Given the description of an element on the screen output the (x, y) to click on. 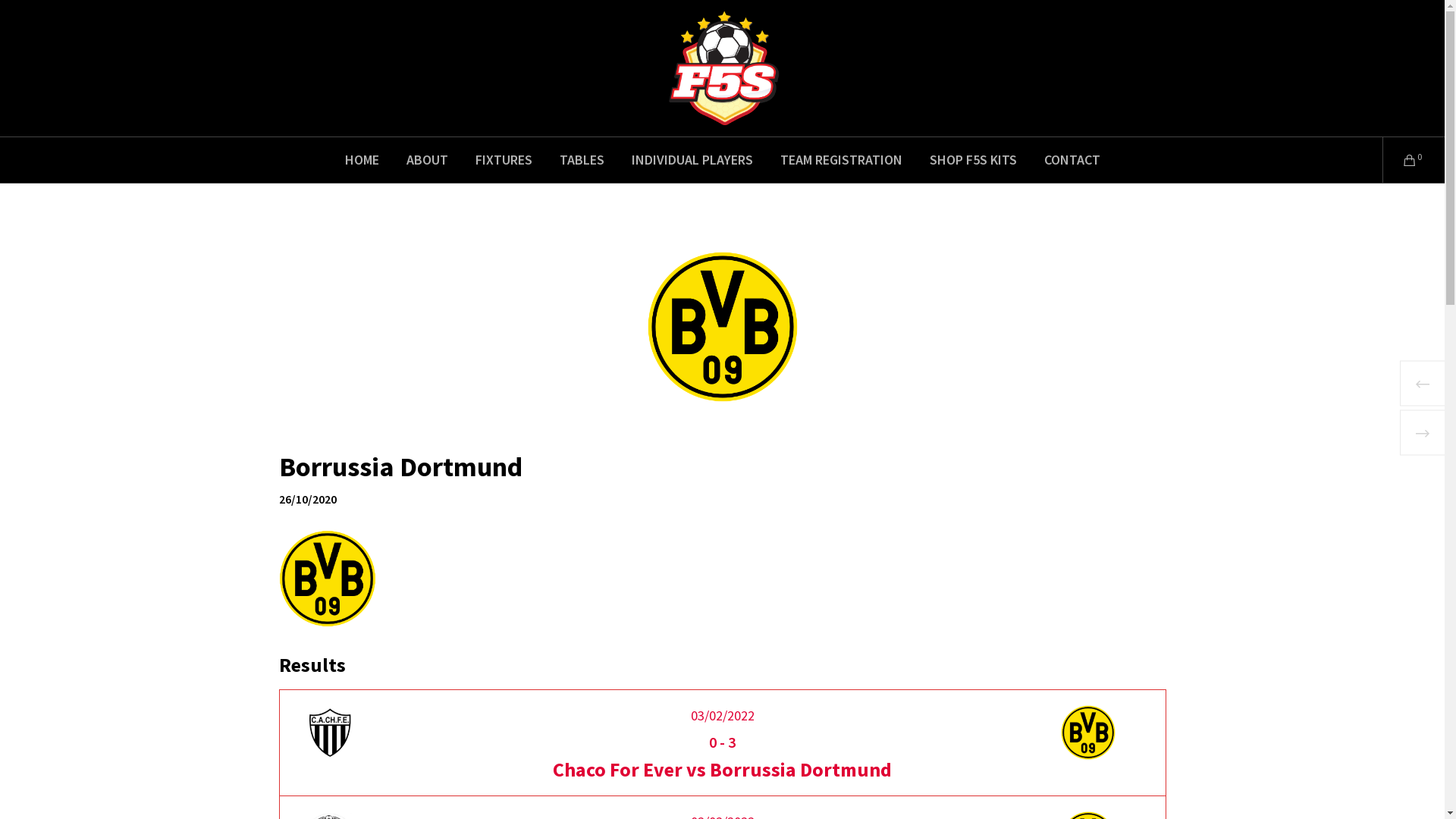
FIXTURES Element type: text (503, 159)
0 - 3 Element type: text (722, 741)
TEAM REGISTRATION Element type: text (840, 159)
Chaco For Ever Element type: hover (342, 732)
ABOUT Element type: text (426, 159)
HOME Element type: text (361, 159)
SHOP F5S KITS Element type: text (973, 159)
03/02/2022 Element type: text (721, 715)
Borrussia Dortmund Element type: hover (1101, 732)
Chaco For Ever vs Borrussia Dortmund Element type: text (721, 768)
INDIVIDUAL PLAYERS Element type: text (691, 159)
TABLES Element type: text (582, 159)
CONTACT Element type: text (1071, 159)
